Given the description of an element on the screen output the (x, y) to click on. 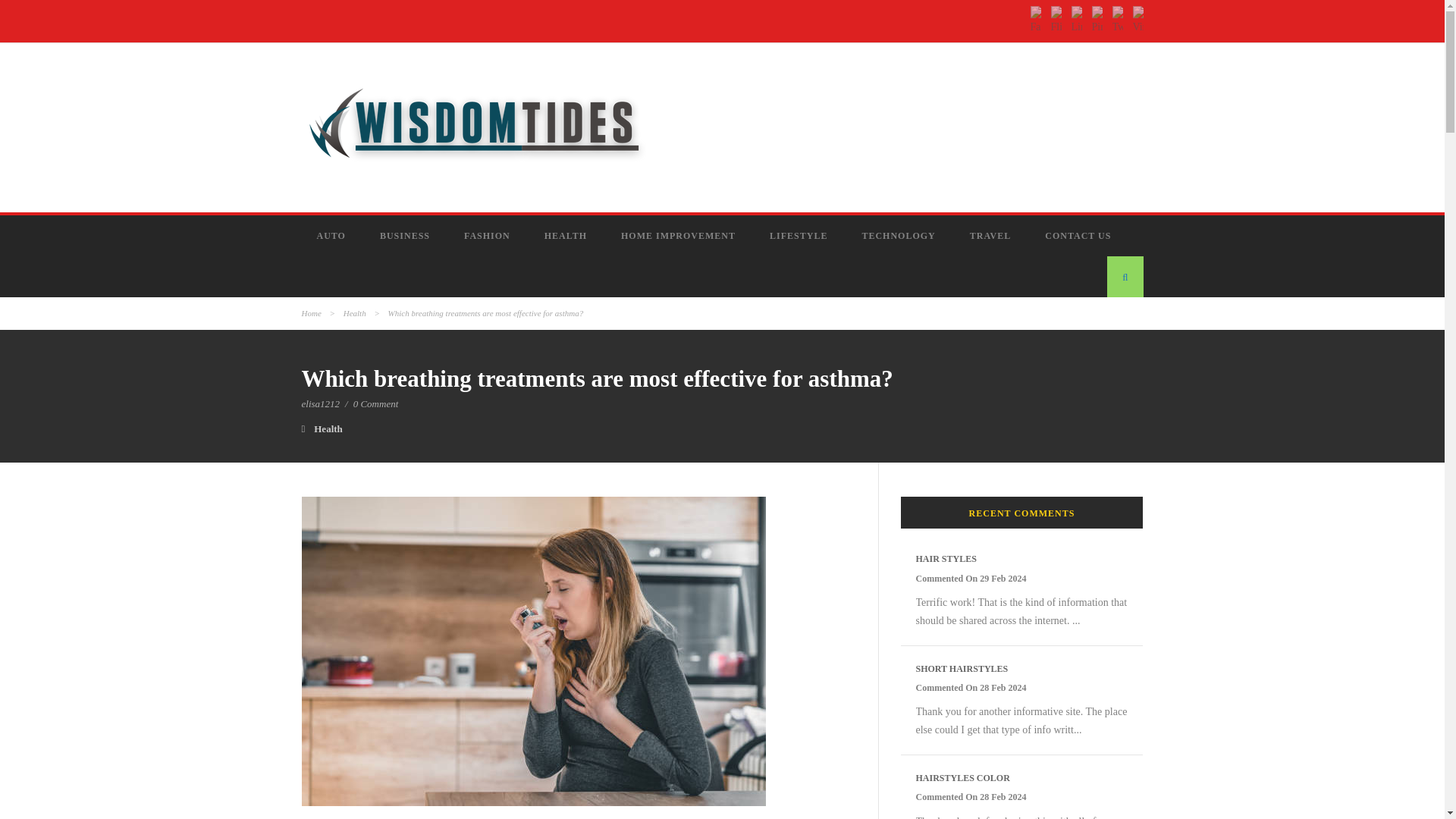
TRAVEL (992, 235)
Health (354, 312)
HOME IMPROVEMENT (679, 235)
AUTO (333, 235)
Home (311, 312)
HEALTH (567, 235)
Health (328, 428)
elisa1212 (320, 403)
CONTACT US (1079, 235)
Posts by elisa1212 (320, 403)
